Given the description of an element on the screen output the (x, y) to click on. 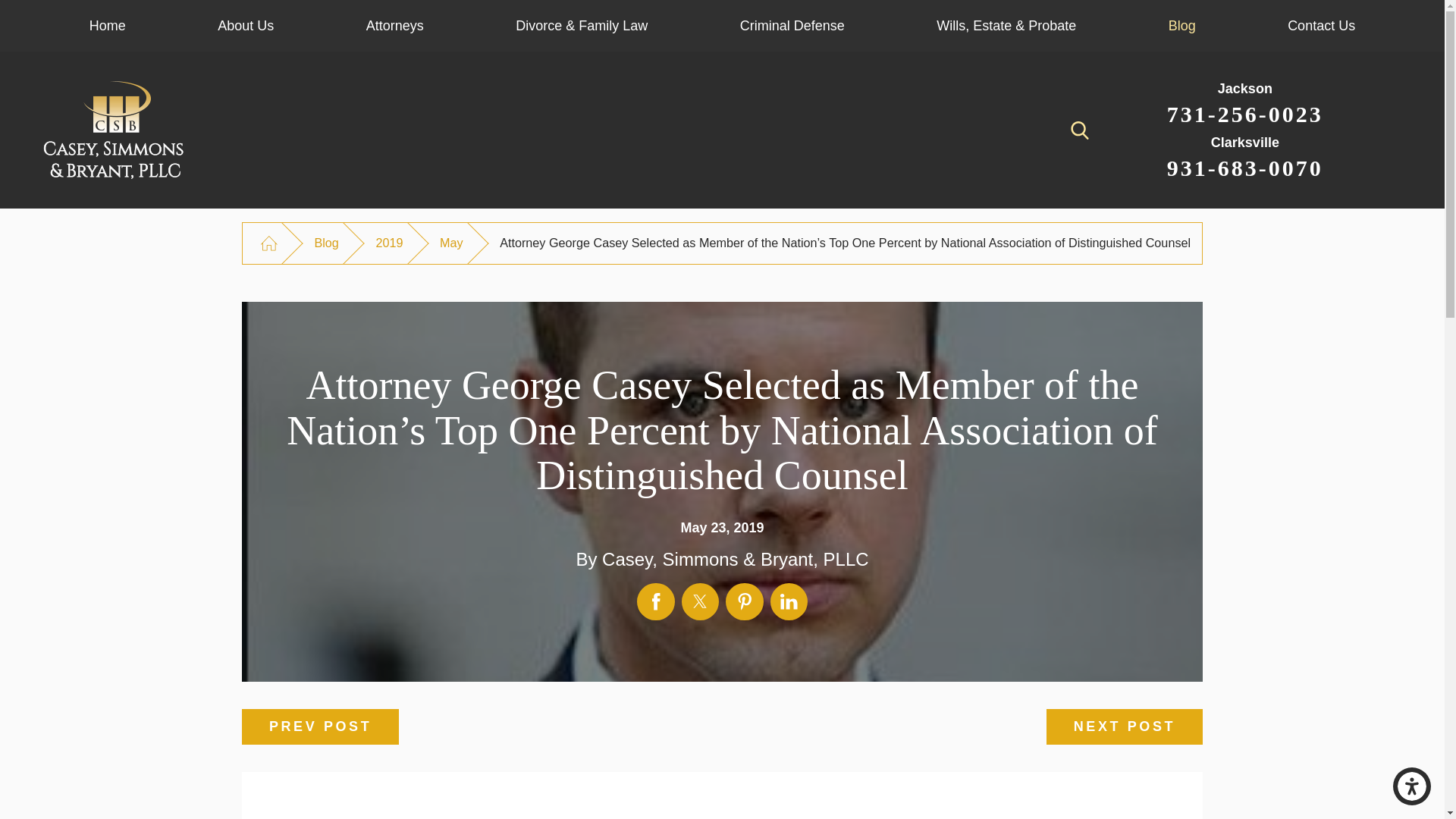
About Us (245, 25)
Attorneys (394, 25)
Criminal Defense (791, 25)
Blog (1181, 25)
Go Home (269, 242)
Home (107, 25)
Search Our Site (1079, 130)
Open the accessibility options menu (1412, 786)
